Given the description of an element on the screen output the (x, y) to click on. 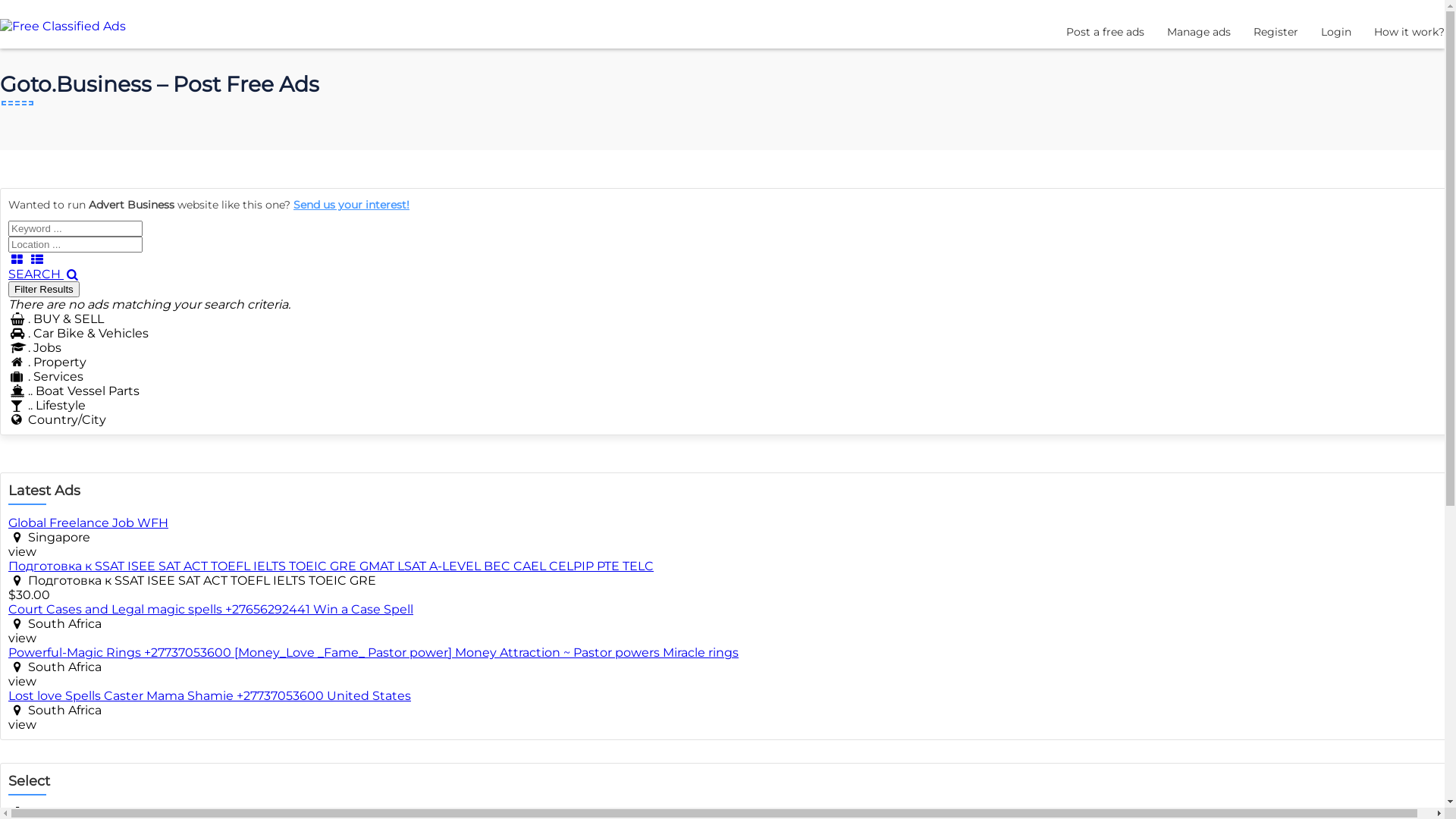
Send us your interest! Element type: text (351, 204)
List Element type: hover (36, 259)
Manage ads Element type: text (1198, 31)
How it work? Element type: text (1409, 31)
Post a free ads Element type: text (1105, 31)
Global Freelance Job WFH Element type: text (88, 522)
Login Element type: text (1336, 31)
SEARCH Element type: text (44, 273)
Filter Results Element type: text (43, 289)
Grid Element type: hover (16, 259)
Register Element type: text (1275, 31)
